Given the description of an element on the screen output the (x, y) to click on. 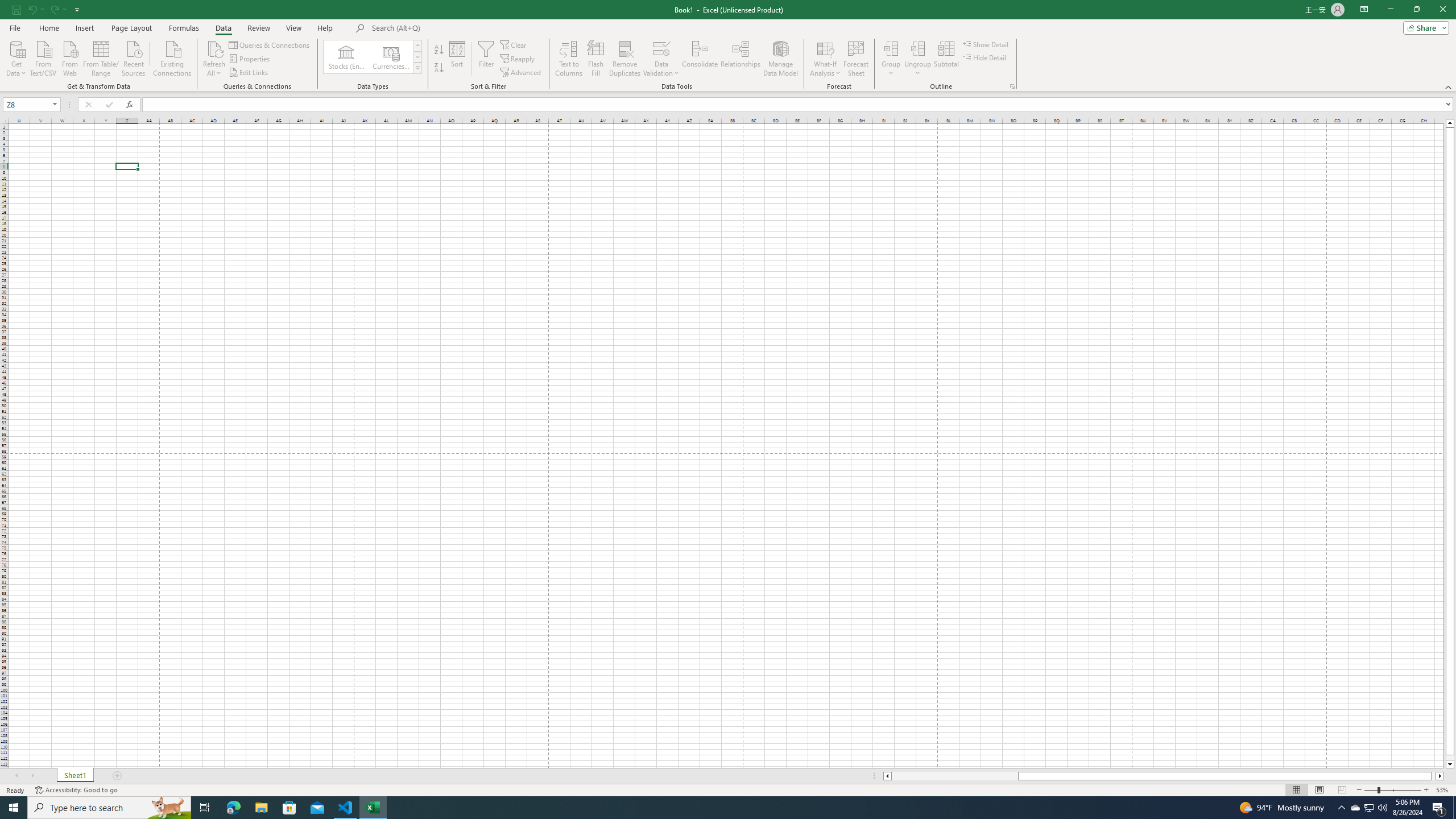
Consolidate... (700, 58)
